Given the description of an element on the screen output the (x, y) to click on. 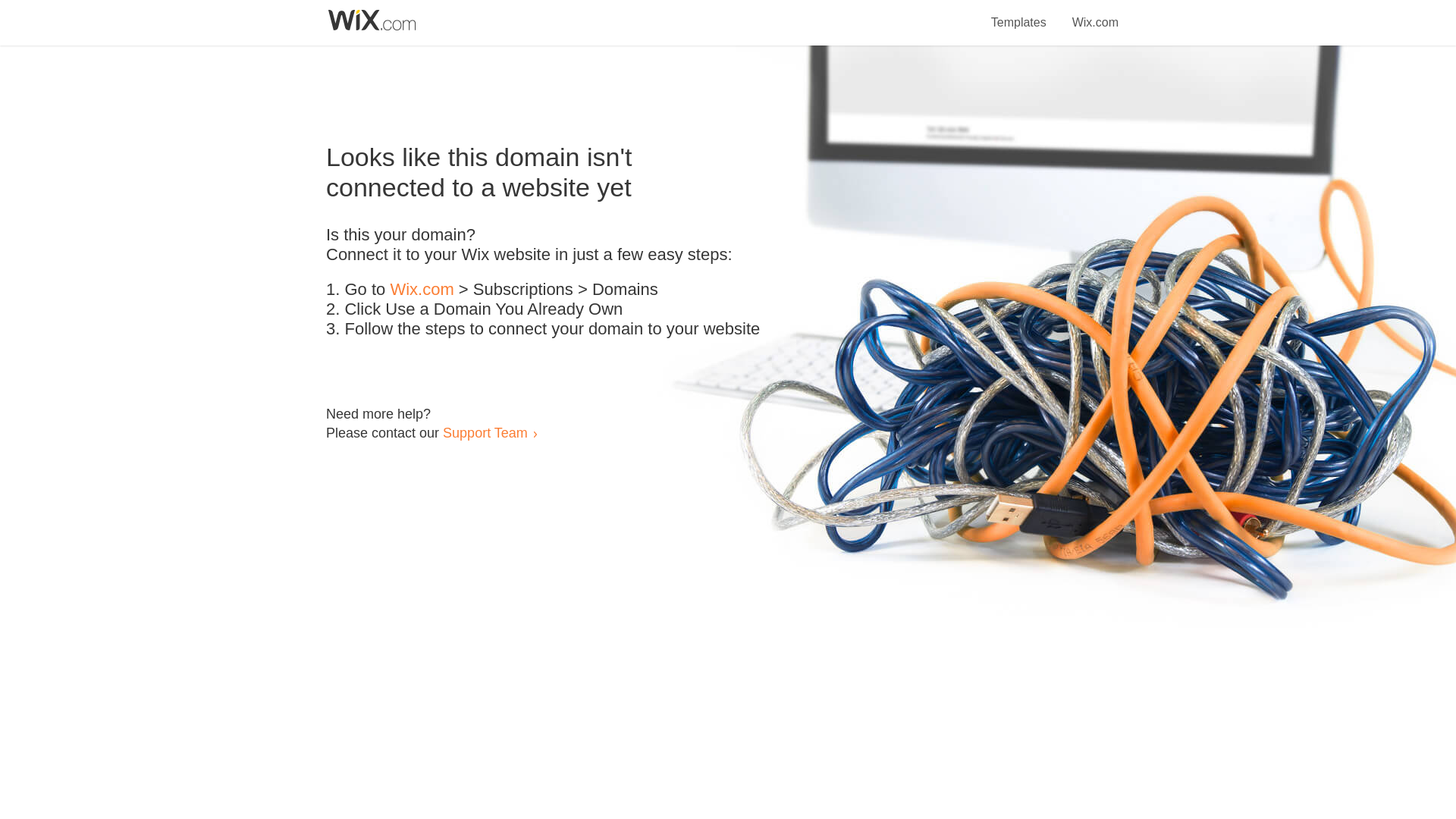
Wix.com (1095, 14)
Wix.com (421, 289)
Templates (1018, 14)
Support Team (484, 432)
